Given the description of an element on the screen output the (x, y) to click on. 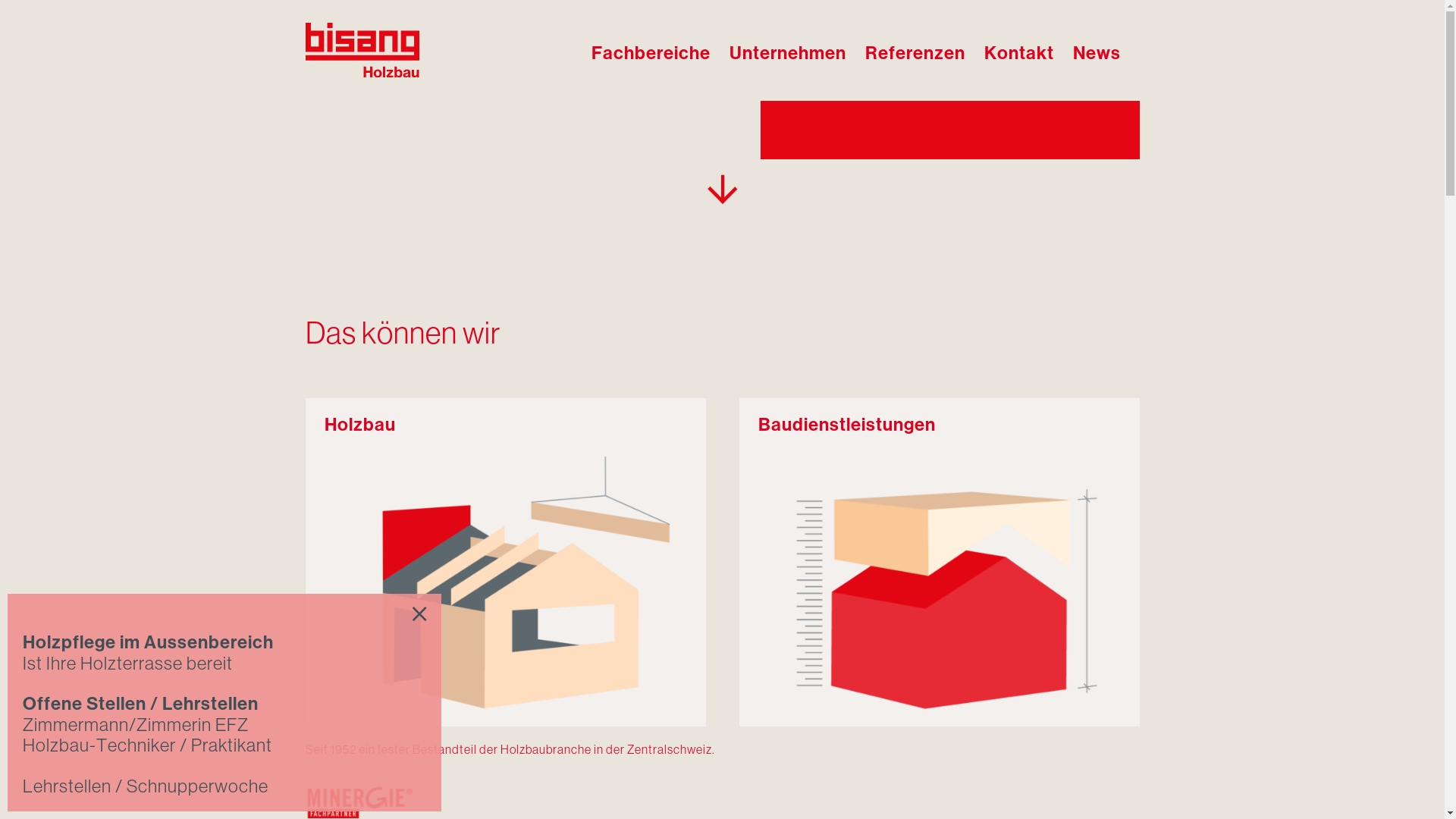
Holzbau-Techniker / Praktikant Element type: text (147, 744)
Referenzen Element type: text (914, 50)
Ist Ihre Holzterrasse bereit Element type: text (127, 662)
Zimmermann/Zimmerin EFZ Element type: text (135, 724)
Lehrstellen / Schnupperwoche  Element type: text (147, 785)
News Element type: text (1096, 50)
Kontakt Element type: text (1019, 50)
